Given the description of an element on the screen output the (x, y) to click on. 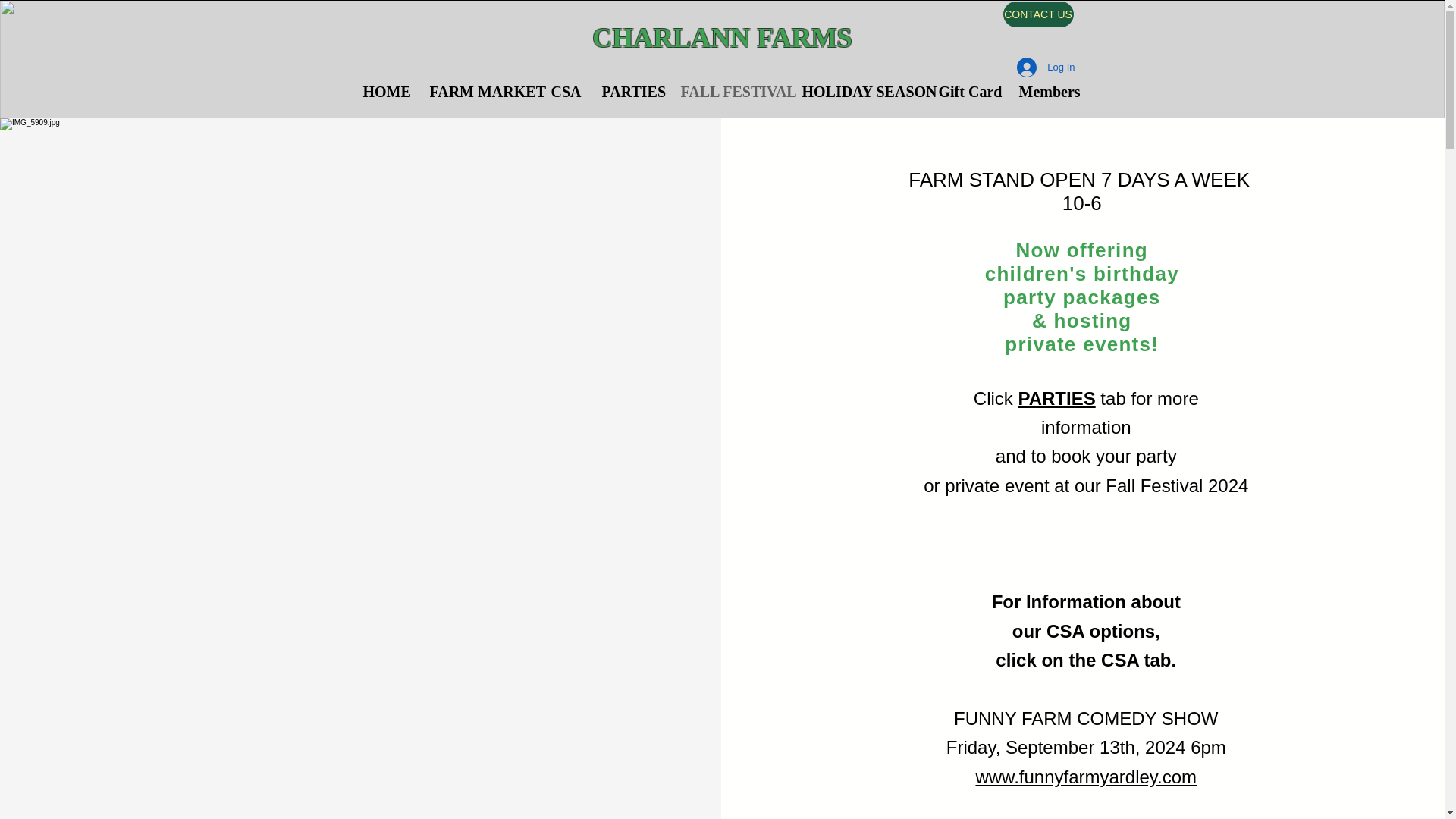
FARM MARKET (479, 91)
CONTACT US (1038, 14)
www.funnyfarmyardley.com (1085, 776)
HOLIDAY SEASON (858, 91)
Gift Card (966, 91)
CSA (565, 91)
Members (1048, 91)
FALL FESTIVAL (729, 91)
PARTIES (1055, 398)
PARTIES (628, 91)
